Given the description of an element on the screen output the (x, y) to click on. 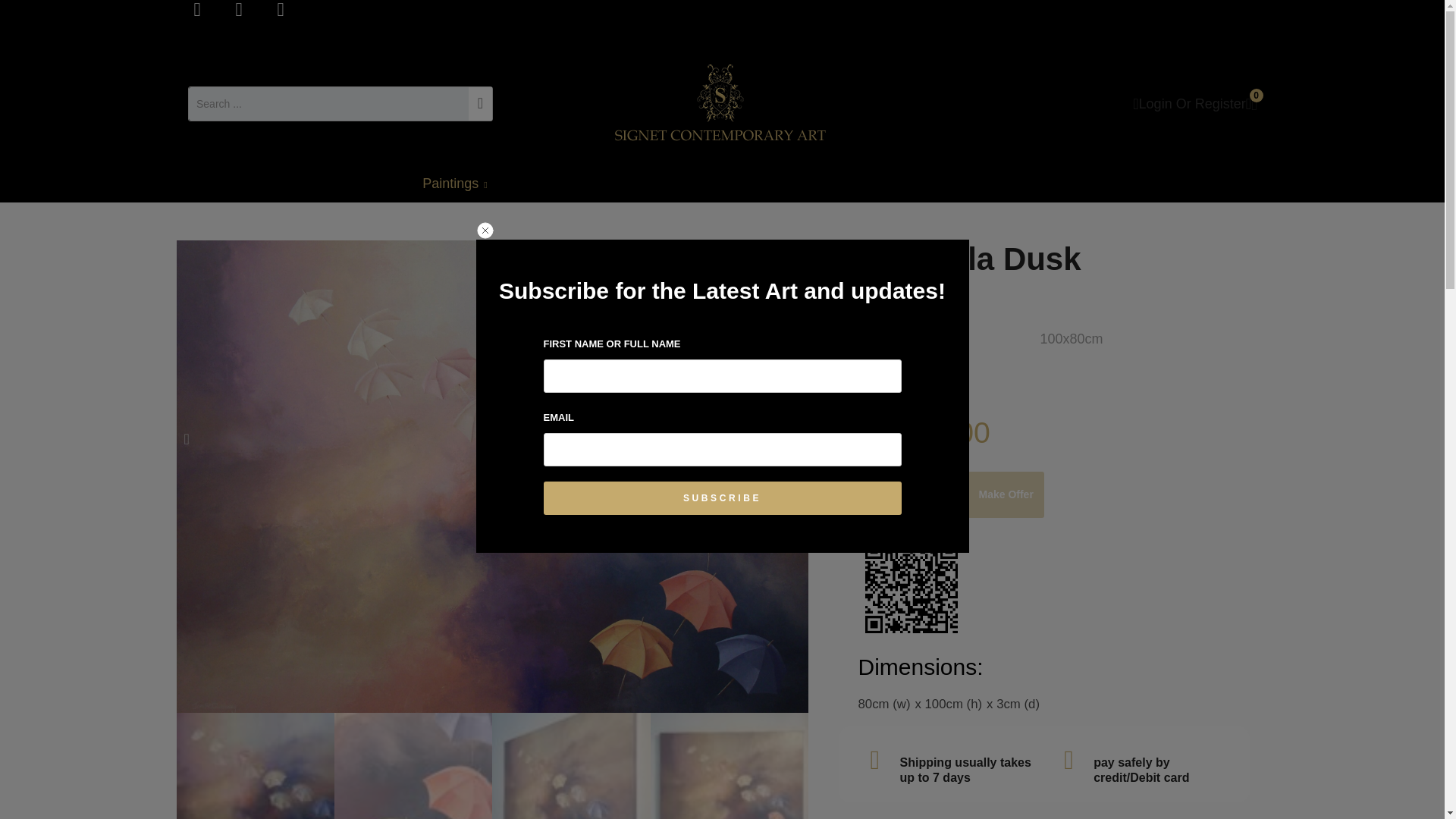
Subscribe (722, 498)
Login Or Register (1188, 103)
Paintings (462, 183)
